Given the description of an element on the screen output the (x, y) to click on. 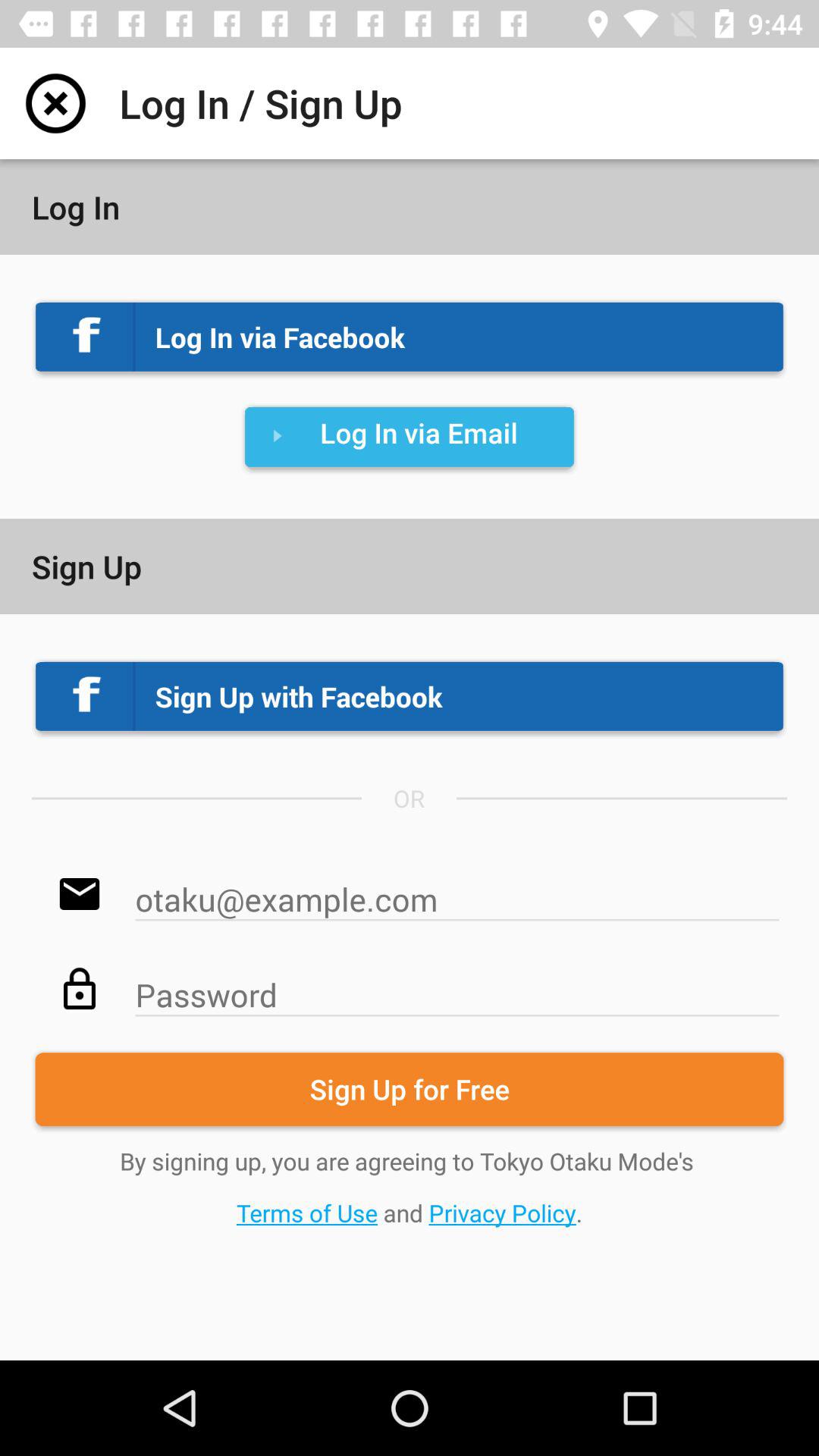
mail icon (457, 891)
